Given the description of an element on the screen output the (x, y) to click on. 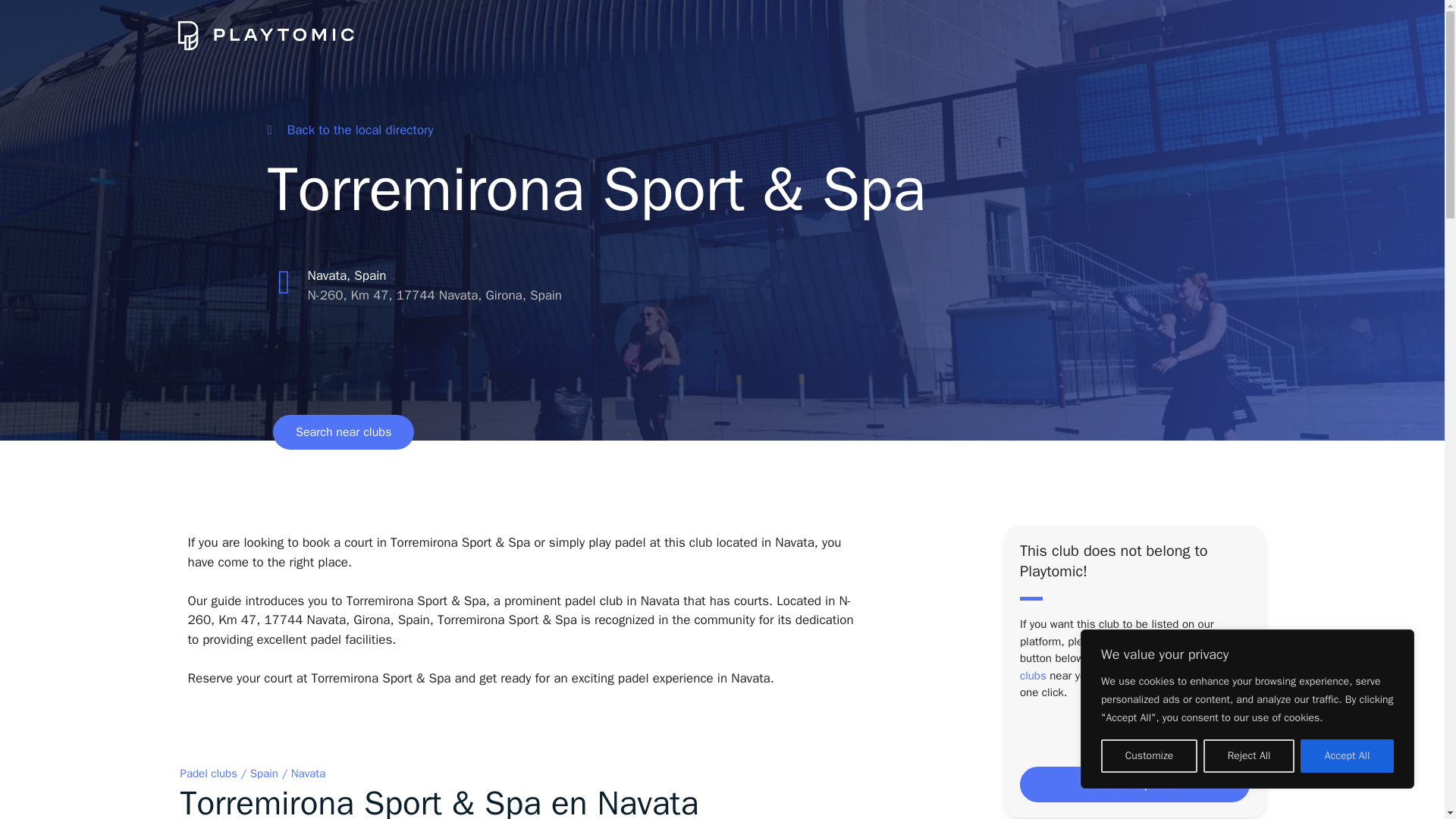
search for other clubs (1128, 666)
Navata (308, 773)
Spain (264, 773)
Search near clubs (343, 431)
Customize (1148, 756)
Back to the local directory (349, 130)
Padel clubs (208, 773)
Send request (1134, 784)
Accept All (1346, 756)
Reject All (1249, 756)
